Given the description of an element on the screen output the (x, y) to click on. 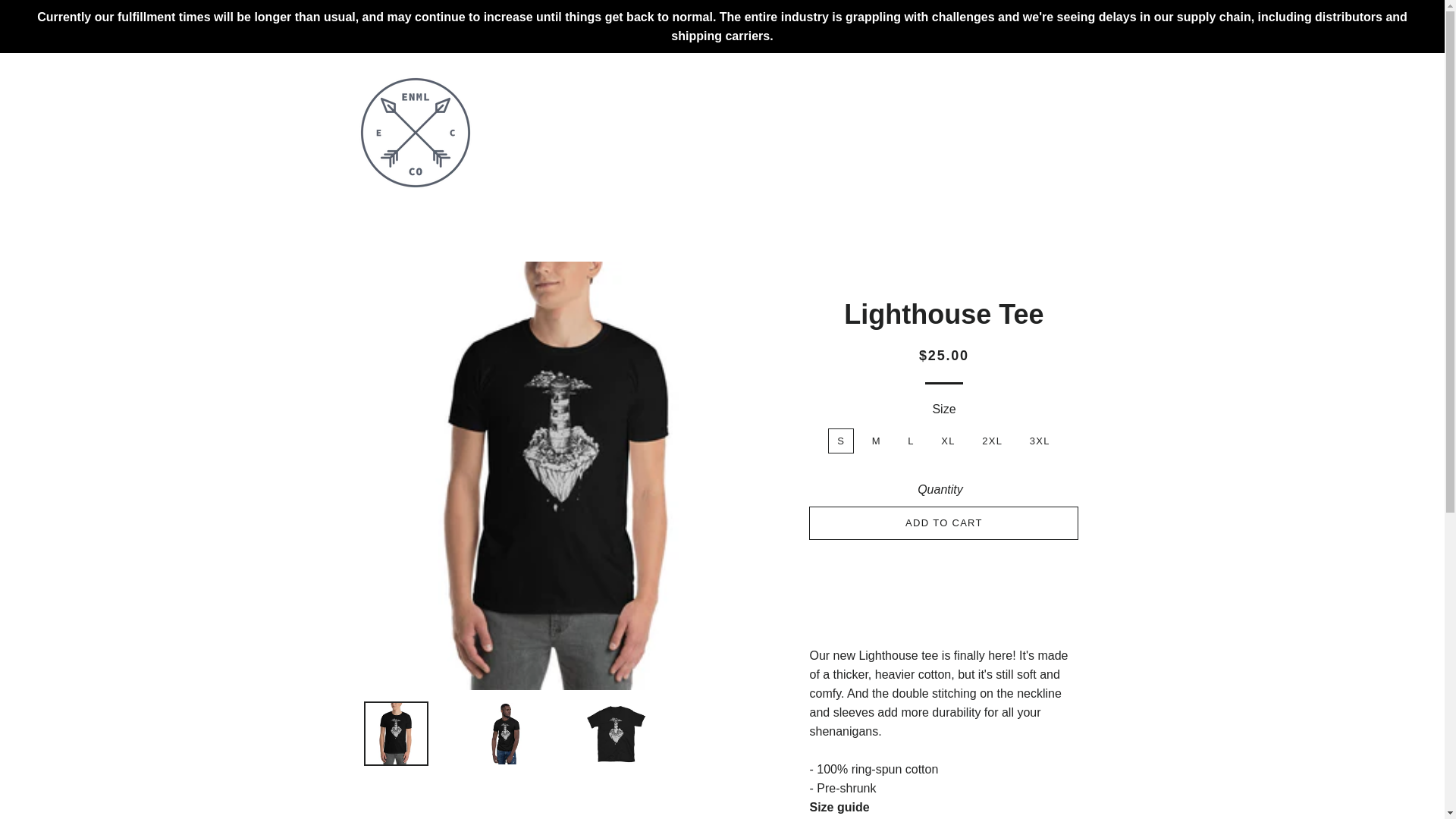
ADD TO CART (943, 522)
